Given the description of an element on the screen output the (x, y) to click on. 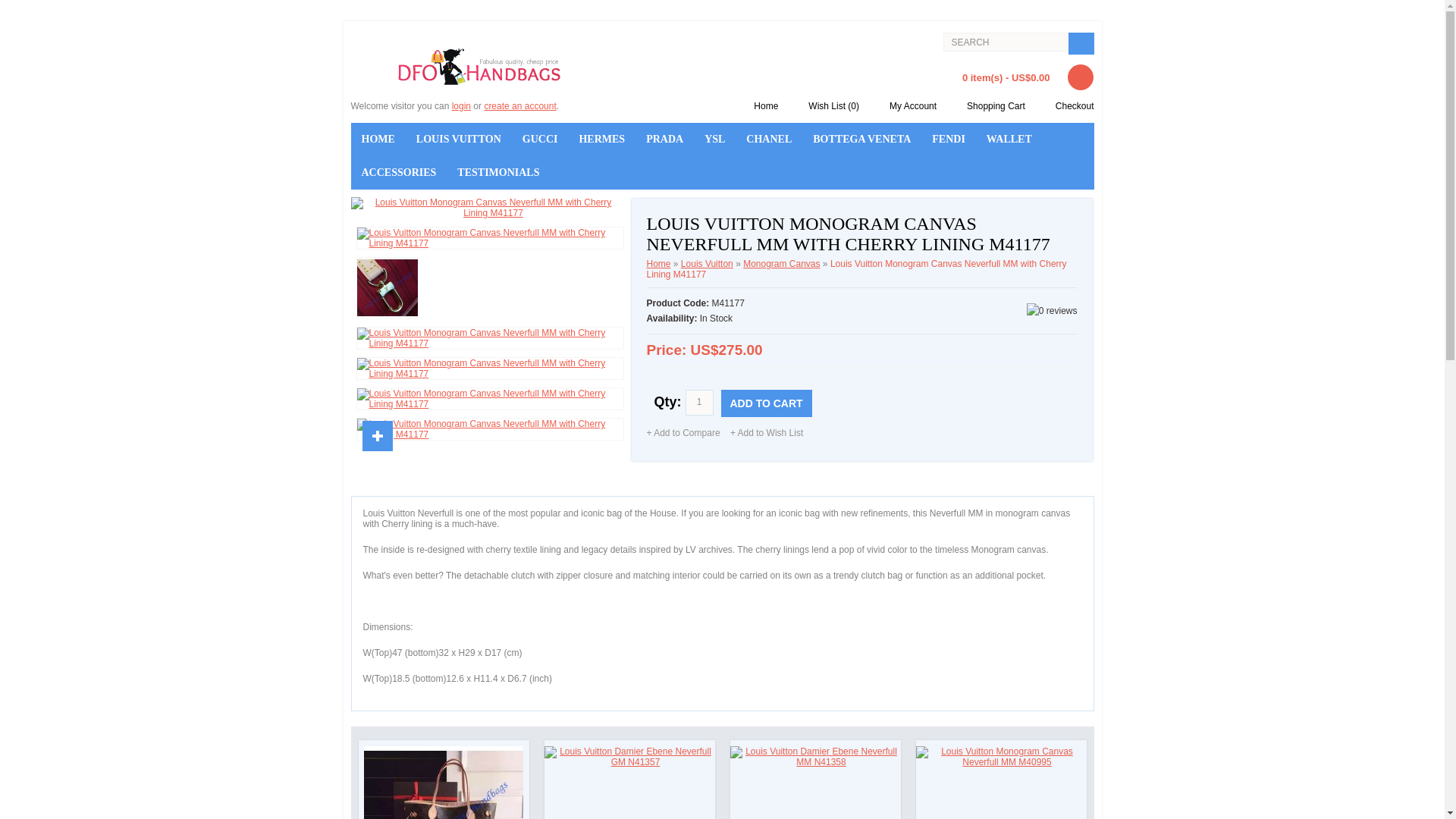
login (460, 105)
LOUIS VUITTON (459, 139)
Checkout (1068, 105)
1 (699, 402)
Search (1005, 41)
My Account (906, 105)
LuxTime DFO Handbags (478, 66)
Go (1080, 43)
create an account (519, 105)
